Given the description of an element on the screen output the (x, y) to click on. 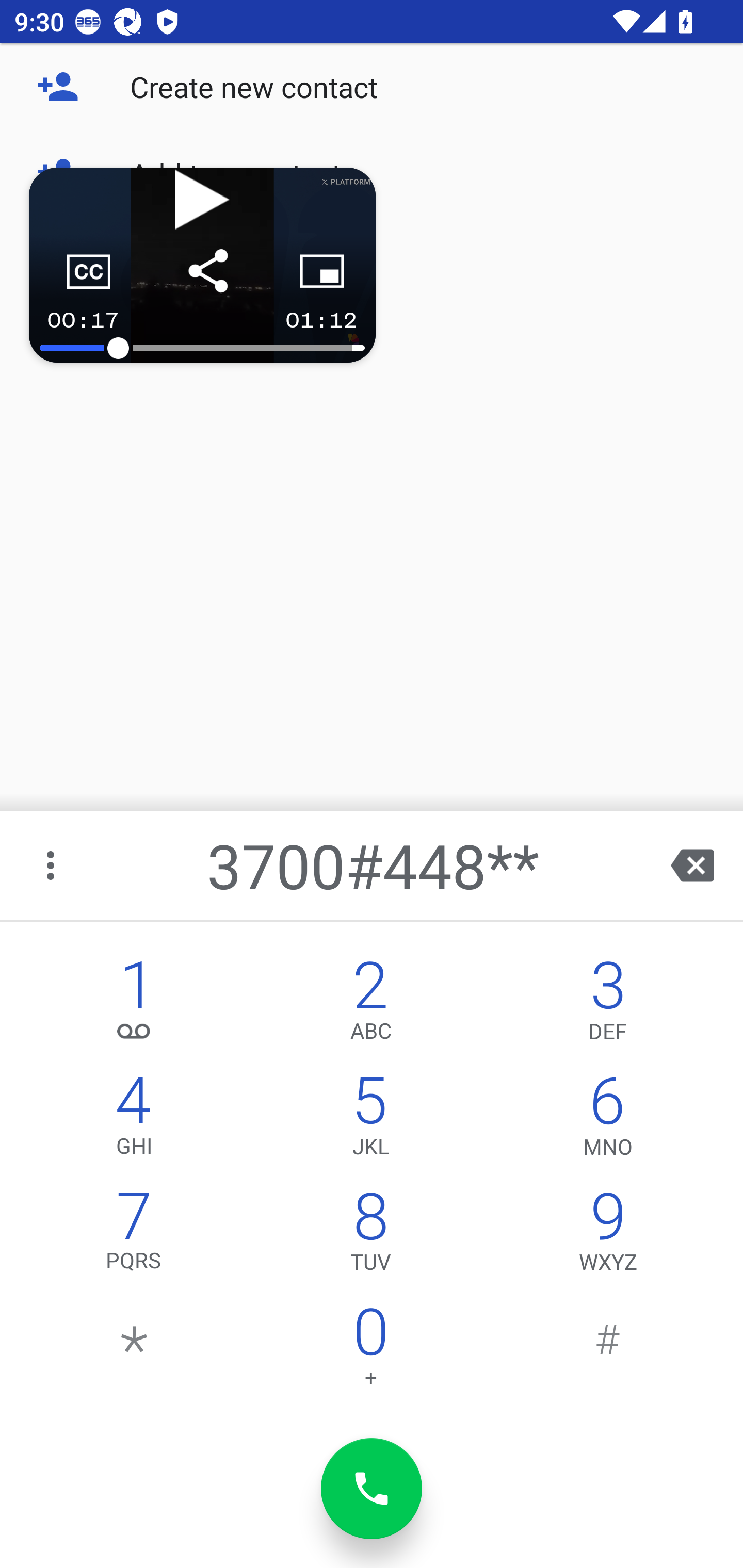
Create new contact (371, 86)
3700#448** (372, 865)
backspace (692, 865)
More options (52, 865)
1, 1 (133, 1005)
2,ABC 2 ABC (370, 1005)
3,DEF 3 DEF (607, 1005)
4,GHI 4 GHI (133, 1120)
5,JKL 5 JKL (370, 1120)
6,MNO 6 MNO (607, 1120)
7,PQRS 7 PQRS (133, 1235)
8,TUV 8 TUV (370, 1235)
9,WXYZ 9 WXYZ (607, 1235)
* (133, 1351)
0 0 + (370, 1351)
# (607, 1351)
dial (371, 1488)
